Given the description of an element on the screen output the (x, y) to click on. 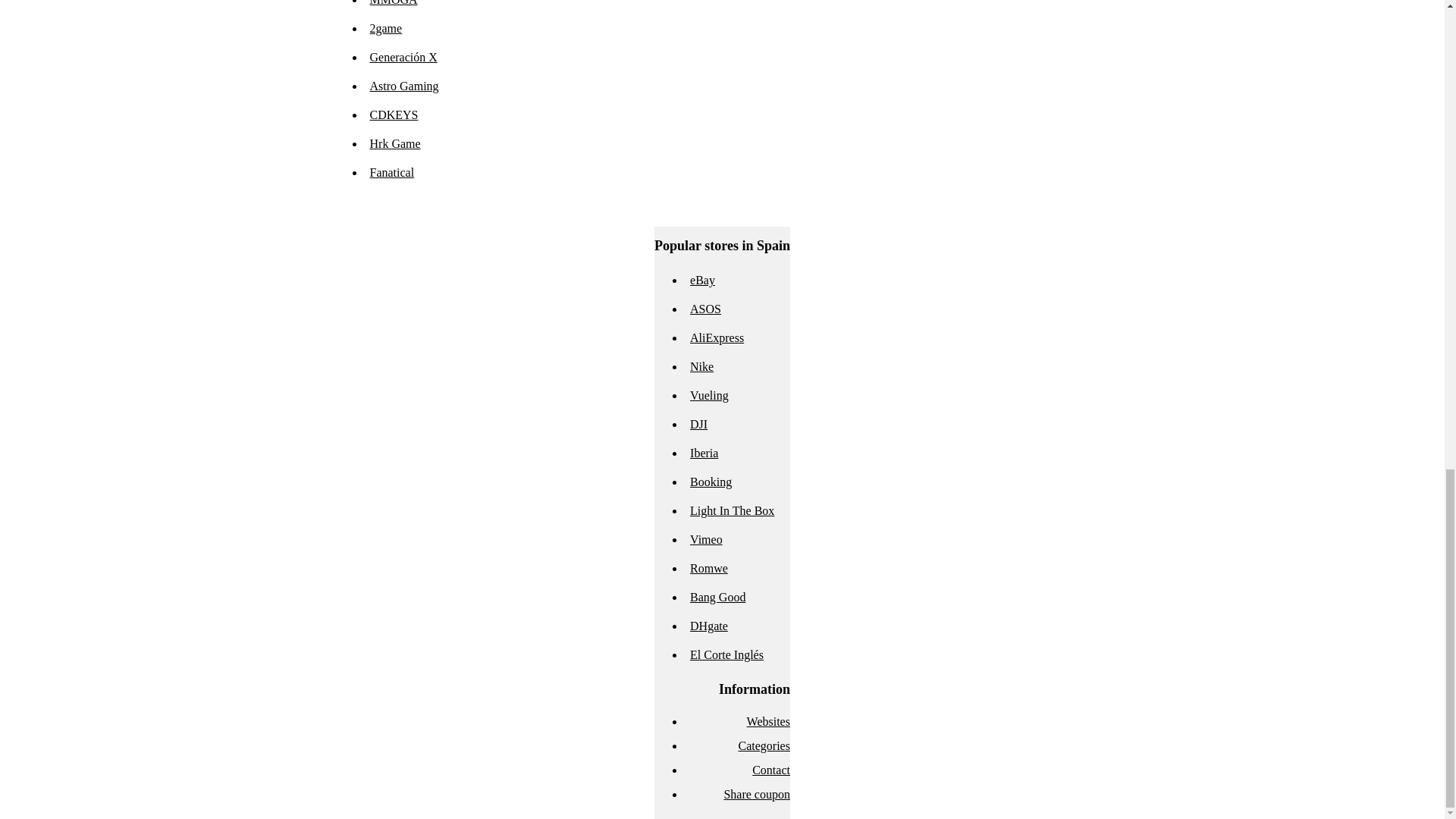
Nike (701, 366)
ASOS (705, 308)
Hrk Game (394, 143)
AliExpress (717, 337)
DJI (698, 423)
Romwe (709, 567)
MMOGA (393, 2)
Booking (711, 481)
2game (386, 28)
Bang Good (717, 596)
CDKEYS (394, 114)
Vueling (709, 395)
Astro Gaming (404, 85)
Fanatical (391, 172)
Iberia (703, 452)
